Given the description of an element on the screen output the (x, y) to click on. 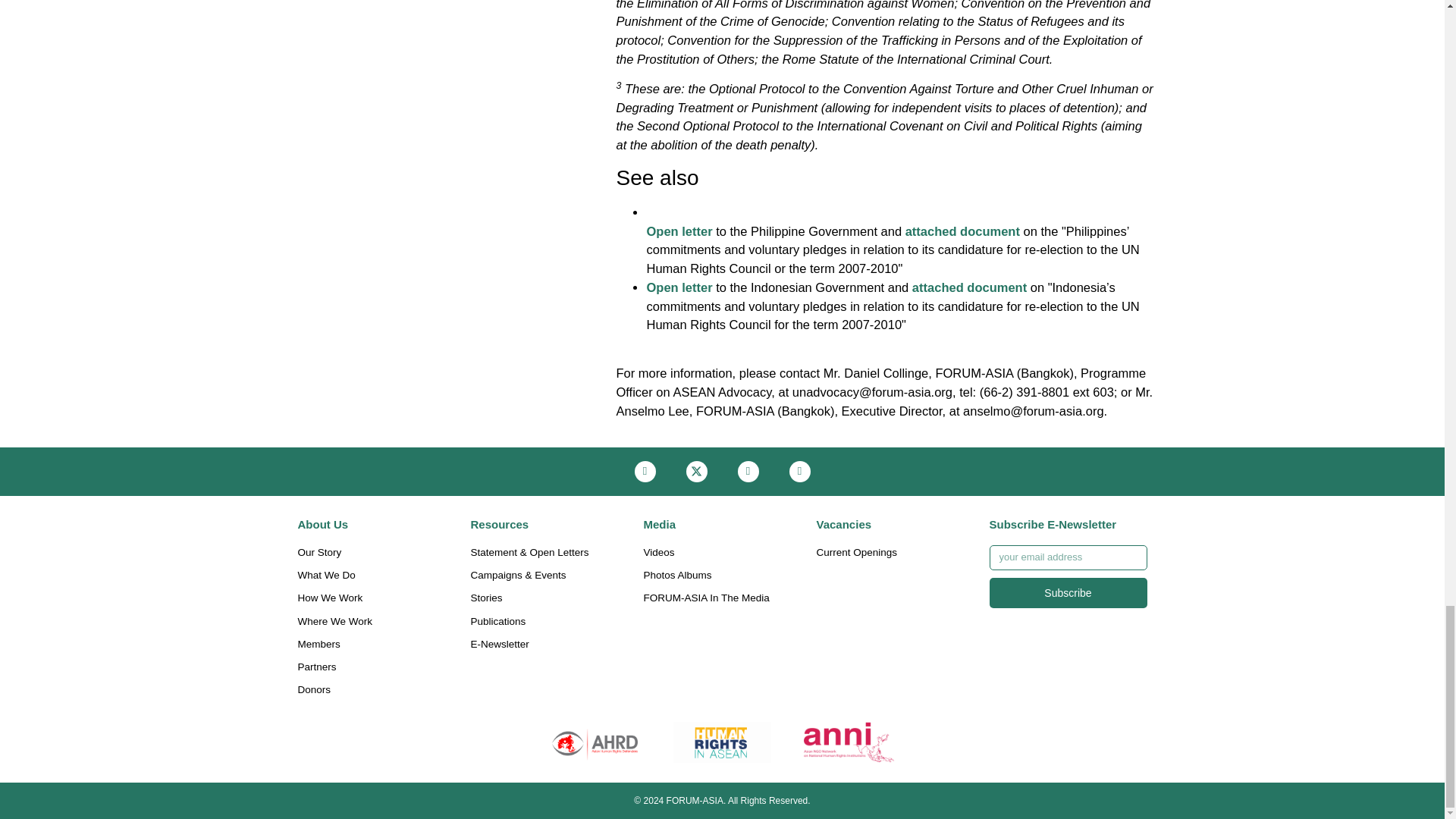
Default Title (722, 741)
Default Title (848, 741)
Default Title (595, 741)
